Given the description of an element on the screen output the (x, y) to click on. 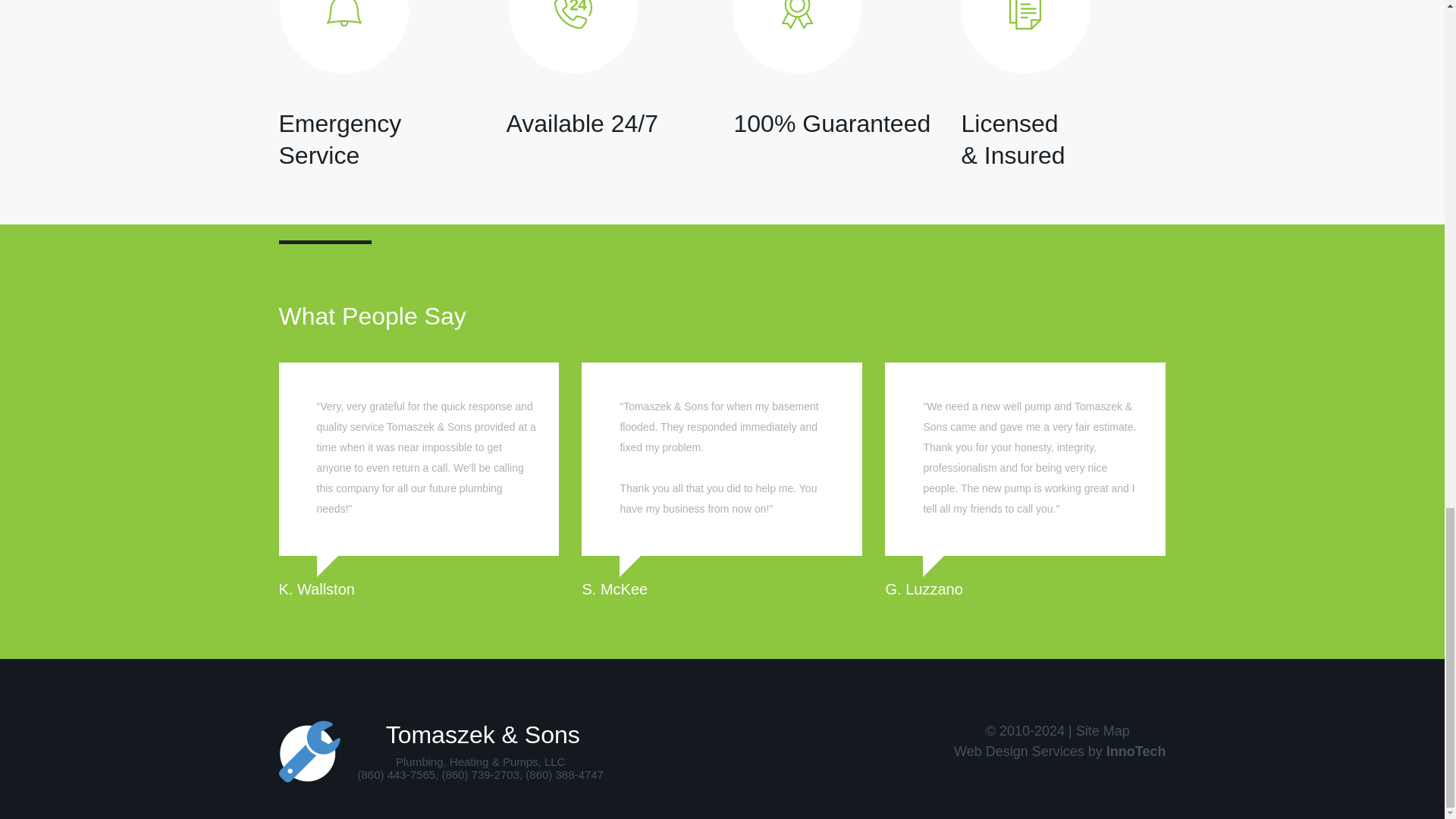
Web Design Services by InnoTech (1059, 751)
Site Map (1102, 730)
